Given the description of an element on the screen output the (x, y) to click on. 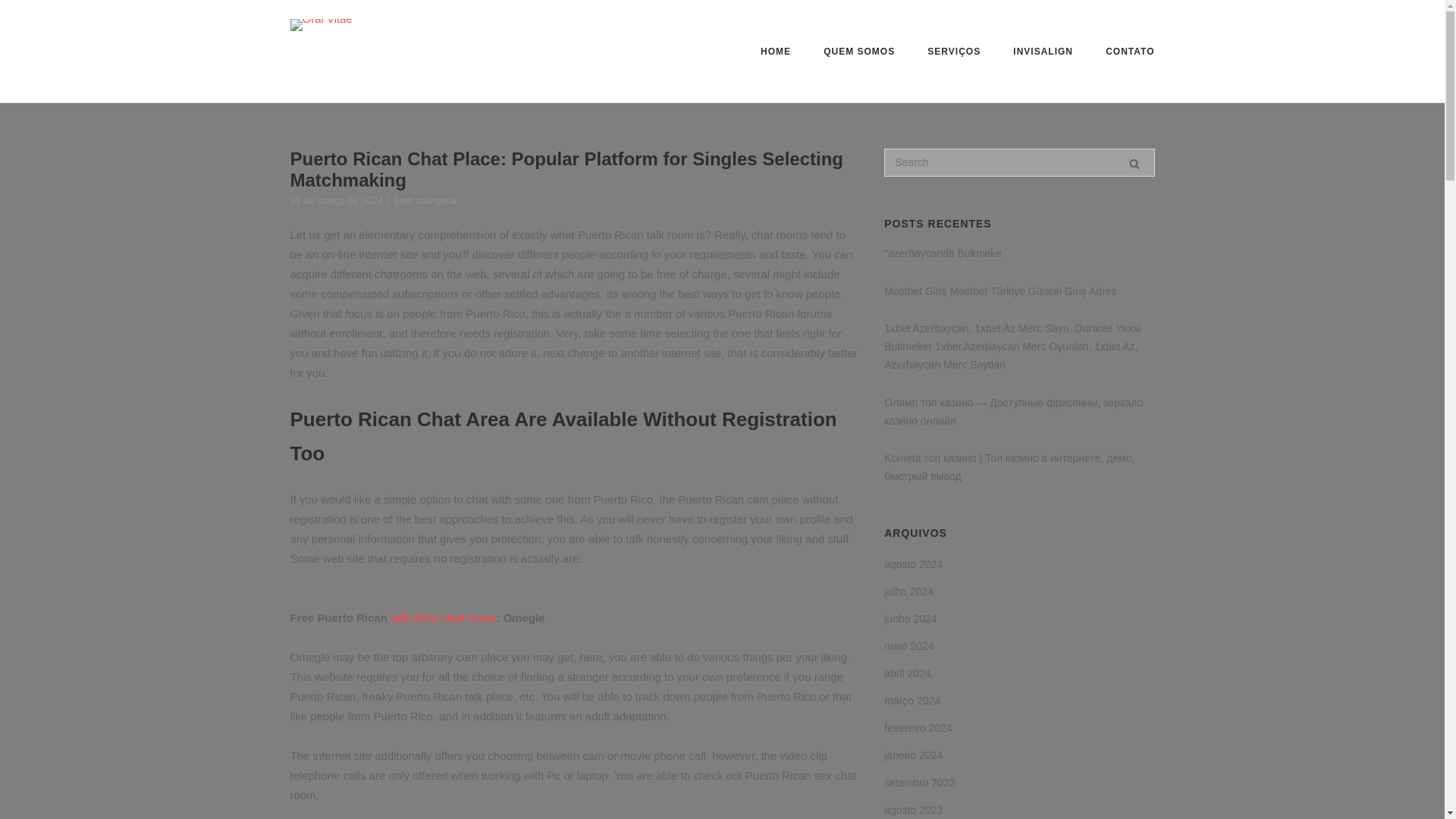
setembro 2023 (919, 782)
fevereiro 2024 (917, 727)
janeiro 2024 (912, 754)
QUEM SOMOS (859, 53)
julho 2024 (908, 590)
HOME (775, 53)
talk dirty chat room (443, 617)
agosto 2024 (912, 563)
abril 2024 (907, 672)
maio 2024 (908, 645)
